Given the description of an element on the screen output the (x, y) to click on. 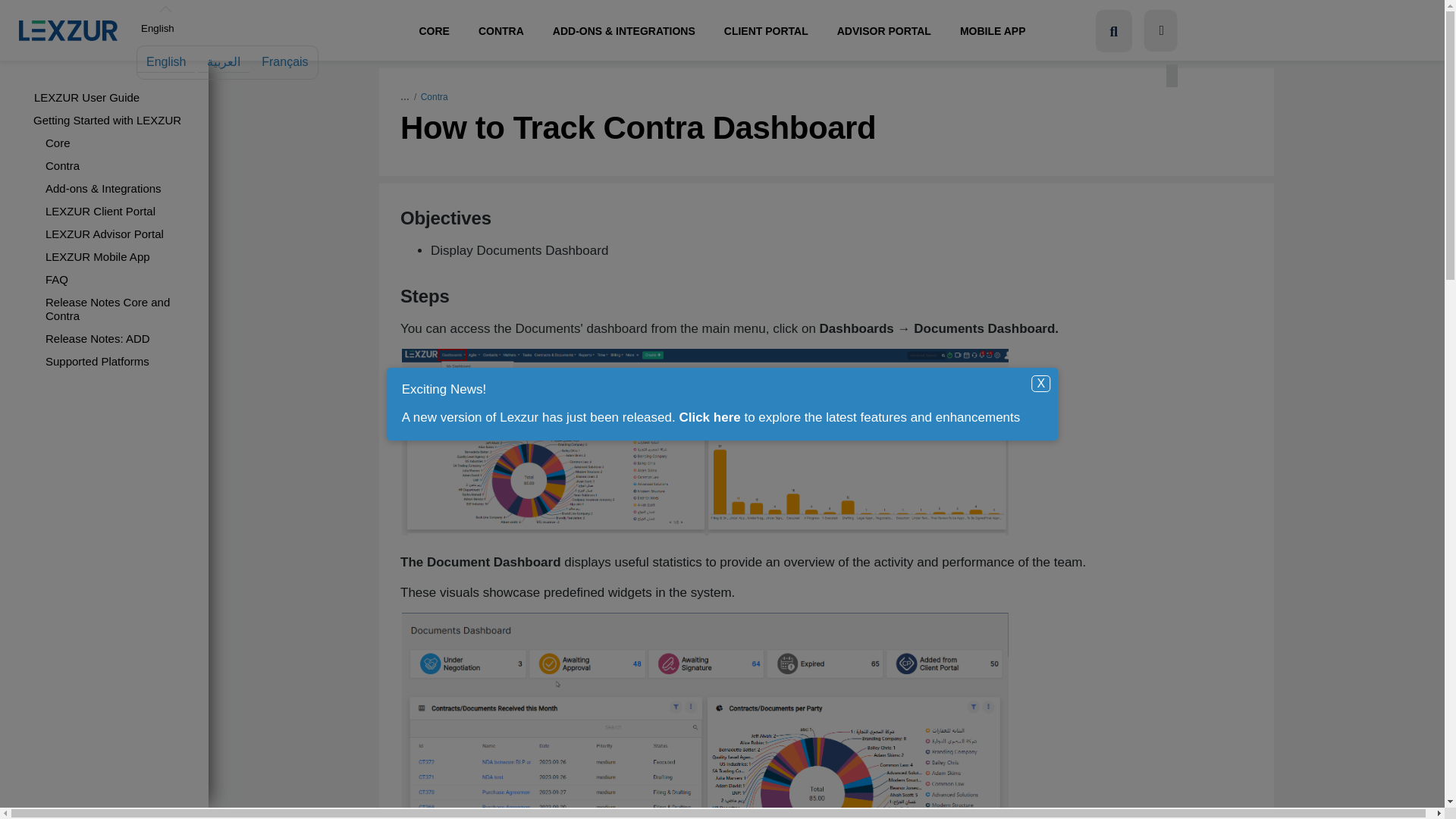
English (166, 61)
English (157, 28)
CORE (433, 32)
ADVISOR PORTAL (883, 32)
CLIENT PORTAL (766, 32)
CONTRA (501, 32)
